Given the description of an element on the screen output the (x, y) to click on. 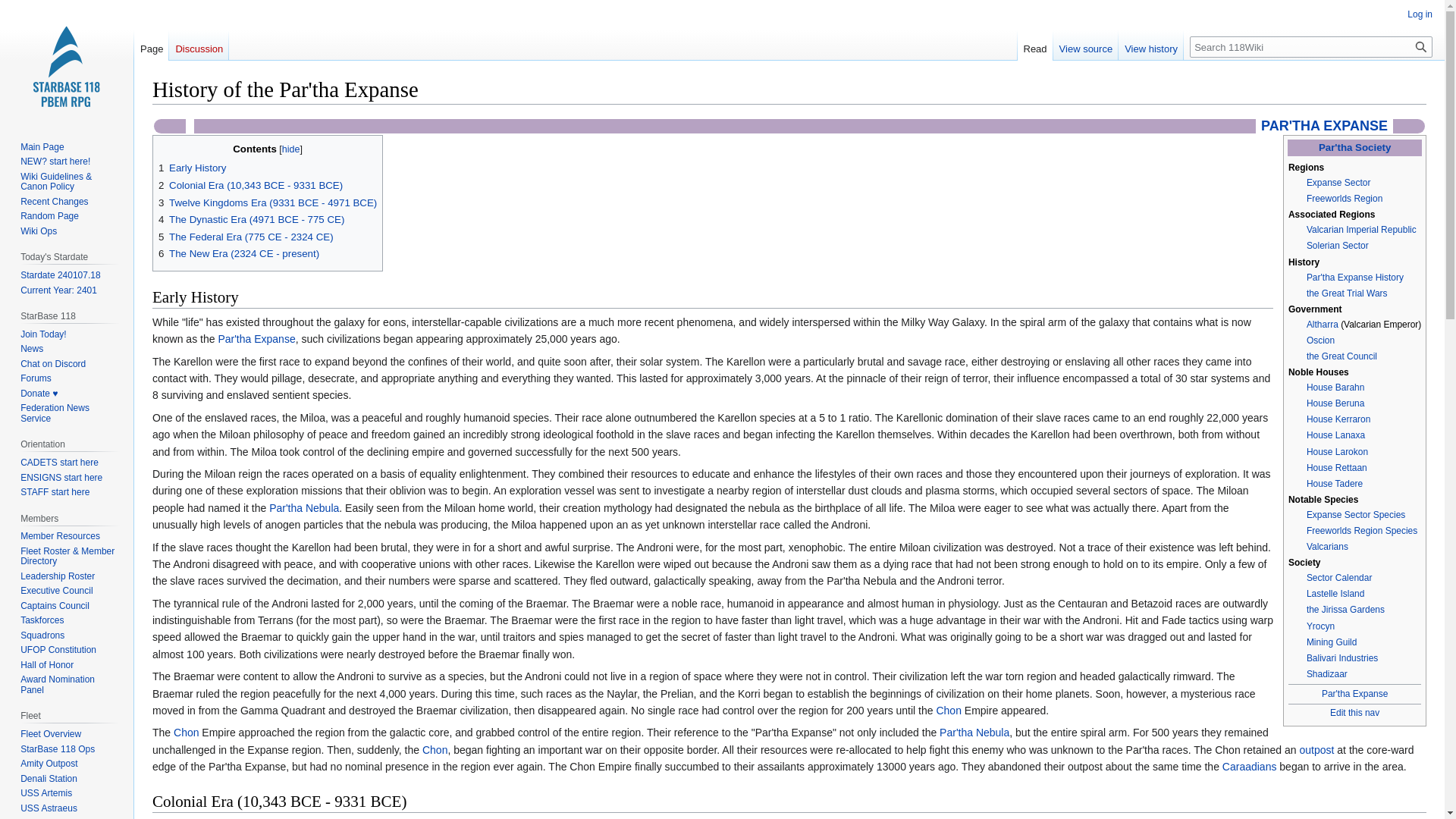
House Tadere (1334, 483)
House Barahn (1335, 387)
Great Trial Wars (1346, 293)
Lastelle Island (1335, 593)
Par'tha Society (1355, 147)
Par'tha Society (1355, 147)
Freeworlds Region Species (1361, 530)
Search (1420, 46)
House Lanaxa (1335, 434)
Altharra (1322, 324)
House Barahn (1335, 387)
Expanse Sector (1338, 182)
1 Early History (191, 167)
House Beruna (1335, 403)
